Given the description of an element on the screen output the (x, y) to click on. 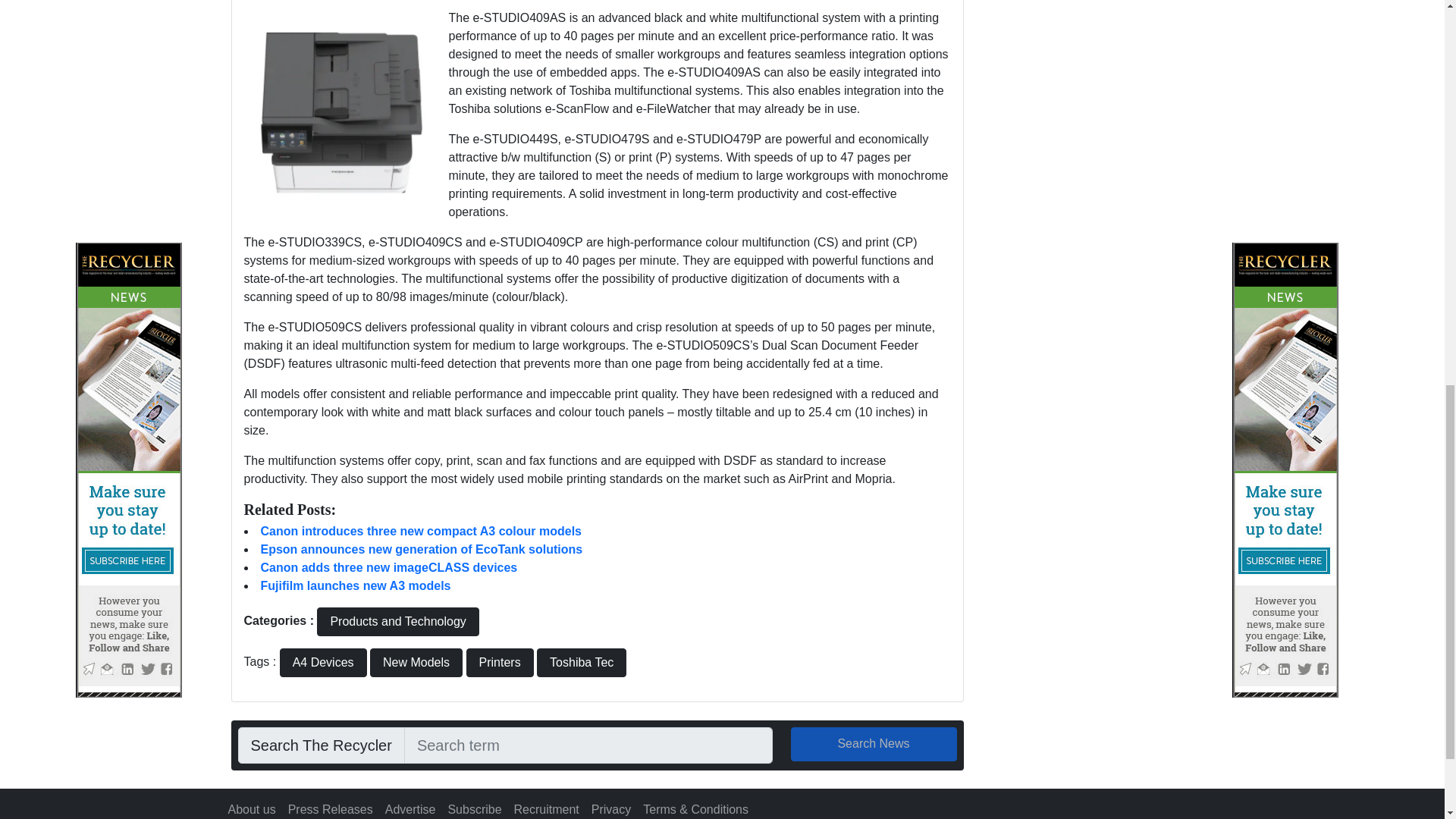
Epson announces new generation of EcoTank solutions (421, 549)
Printers (498, 662)
Canon adds three new imageCLASS devices (389, 567)
A4 Devices Tag (322, 662)
Fujifilm launches new A3 models (355, 585)
Toshiba Tec (581, 662)
Search News (873, 744)
Canon introduces three new compact A3 colour models (420, 530)
Canon introduces three new compact A3 colour models (420, 530)
Printers Tag (498, 662)
Search News (873, 744)
Toshiba Tec Tag (581, 662)
New Models (416, 662)
Canon adds three new imageCLASS devices (389, 567)
Products and Technology (398, 621)
